Given the description of an element on the screen output the (x, y) to click on. 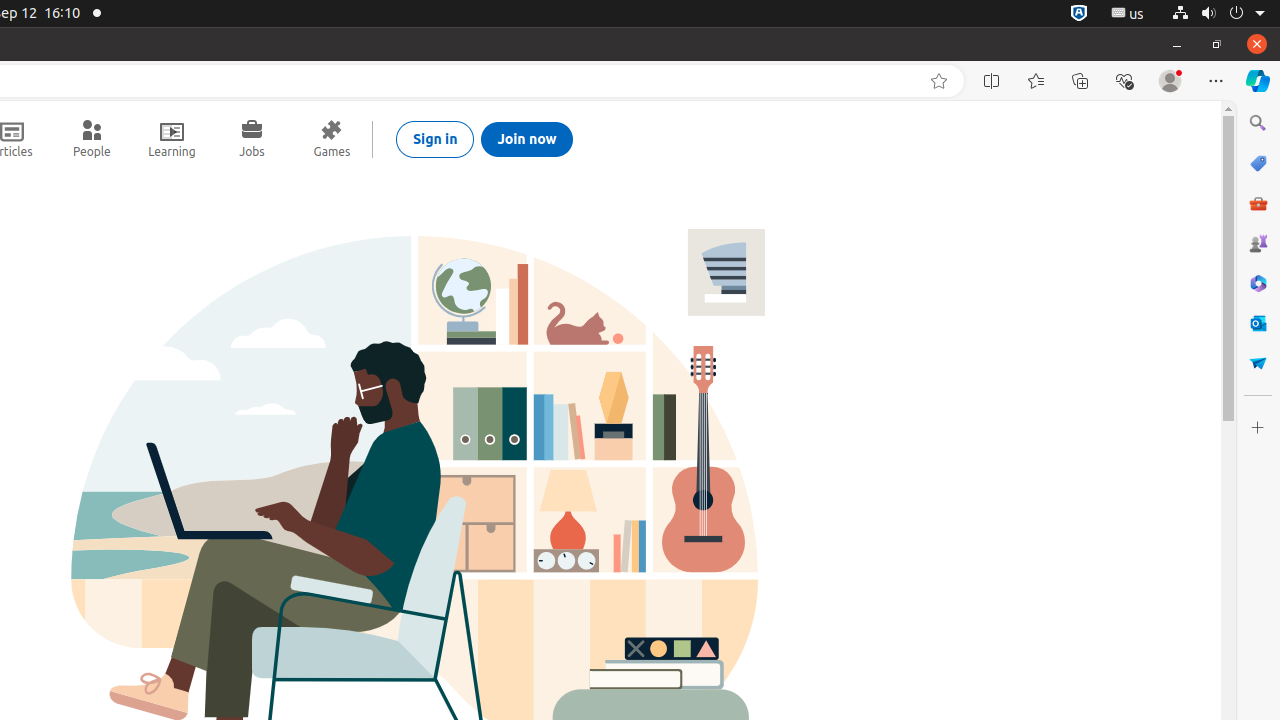
:1.72/StatusNotifierItem Element type: menu (1079, 13)
Join now Element type: link (527, 139)
People Element type: link (91, 139)
Sign in Element type: link (435, 139)
Games Element type: link (331, 139)
